Given the description of an element on the screen output the (x, y) to click on. 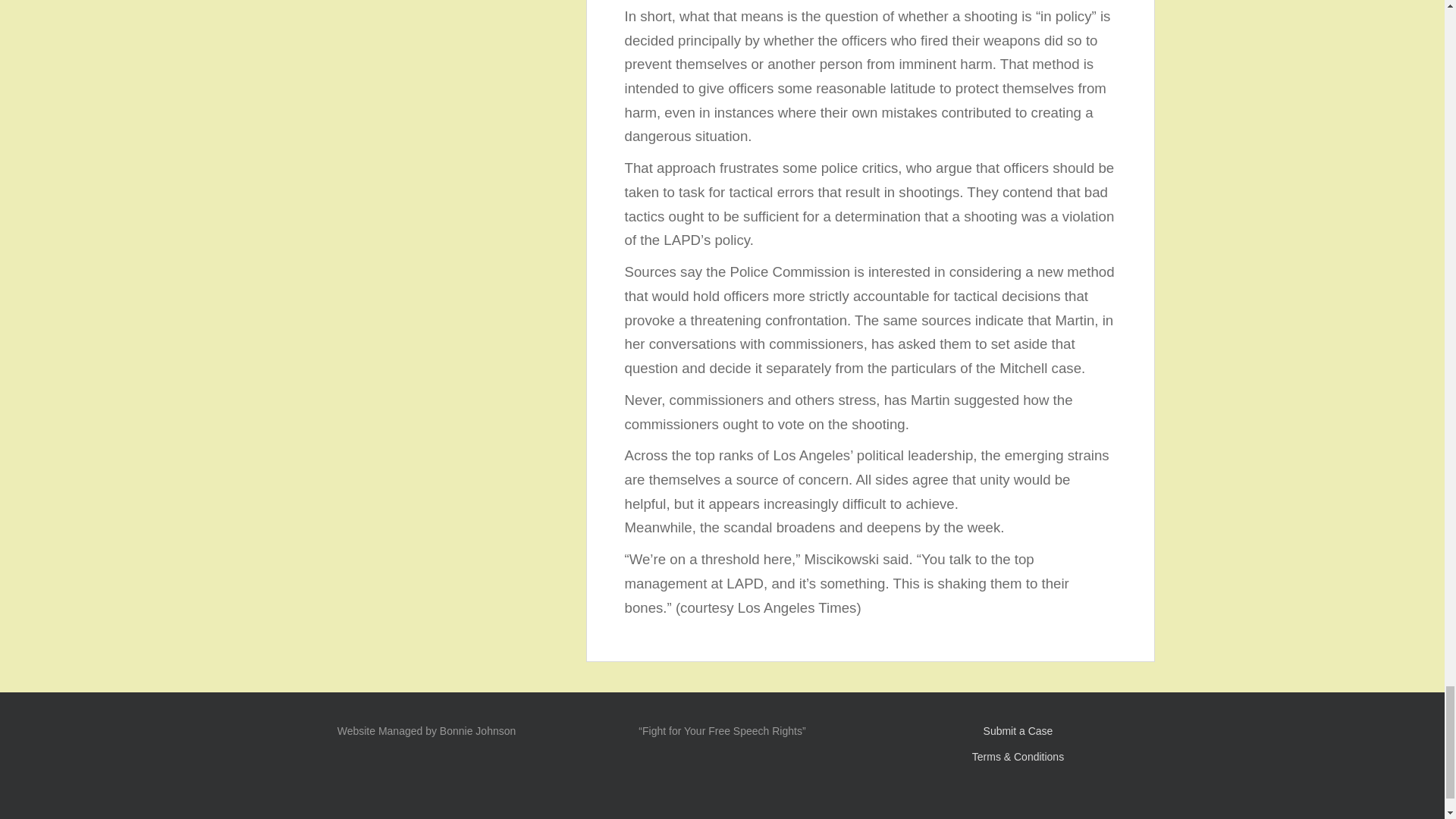
Submit a Case (1018, 730)
